Given the description of an element on the screen output the (x, y) to click on. 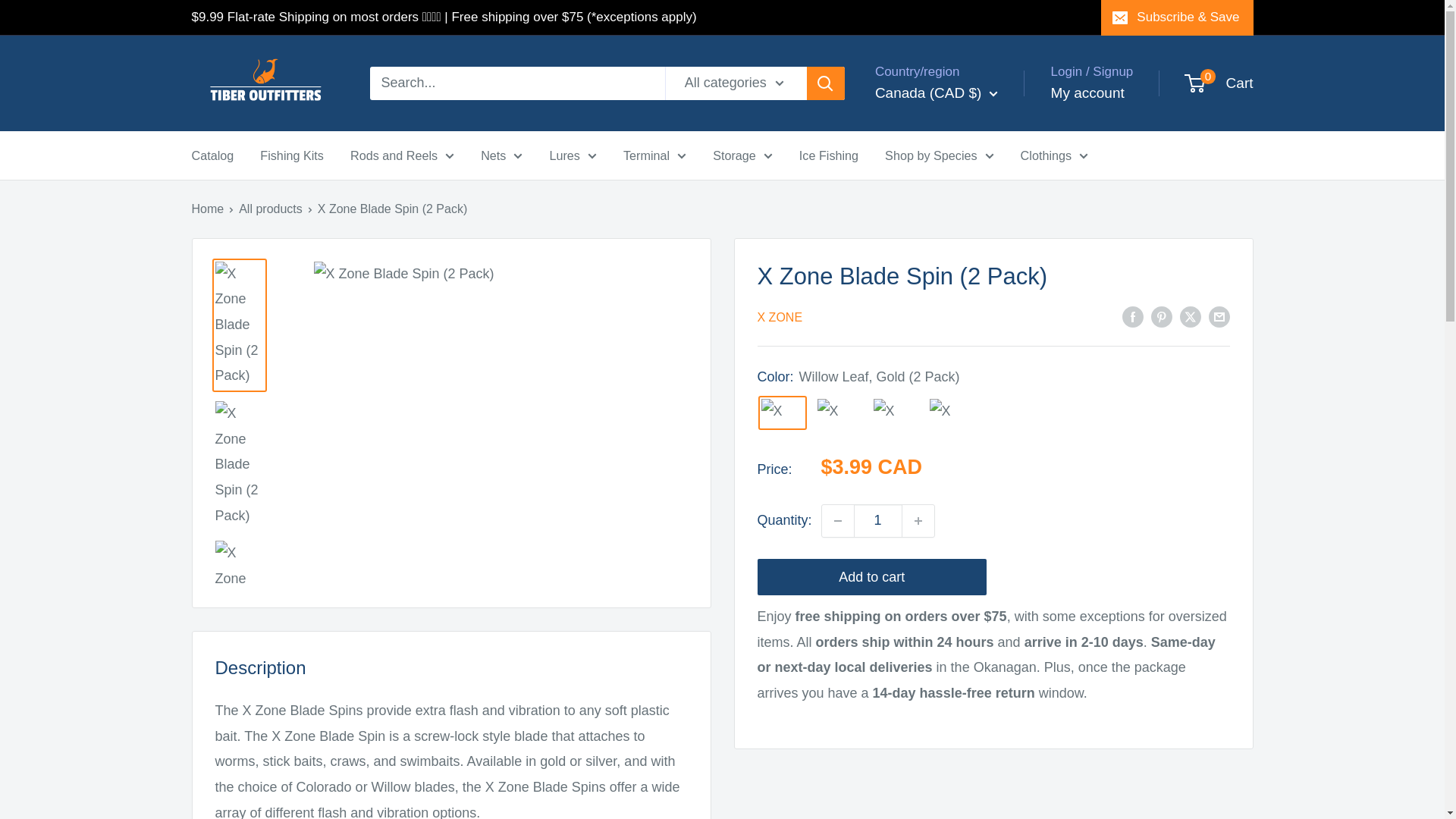
1 (877, 521)
Decrease quantity by 1 (837, 521)
Increase quantity by 1 (918, 521)
